Given the description of an element on the screen output the (x, y) to click on. 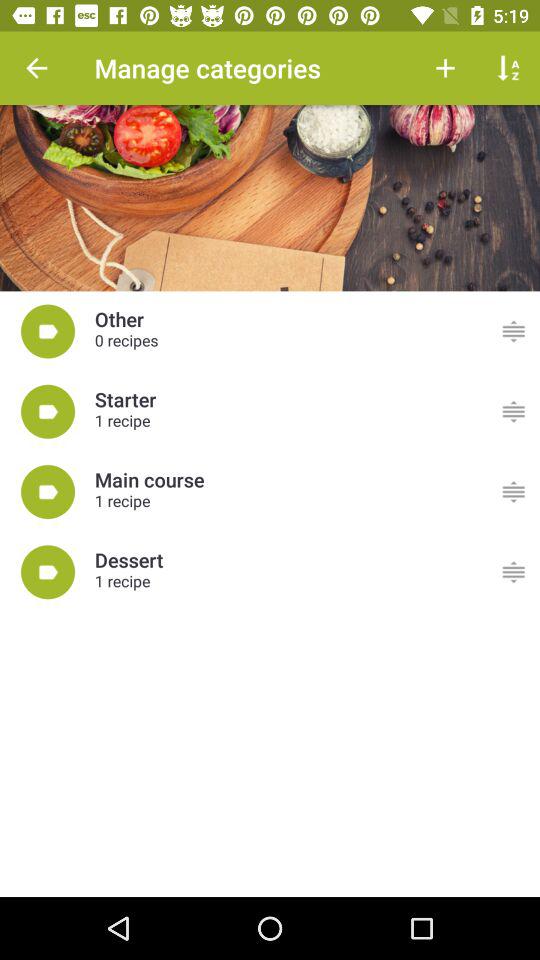
click on the icon at the center of the page shown before others (48, 332)
click on the button next to manage categories (445, 68)
